Given the description of an element on the screen output the (x, y) to click on. 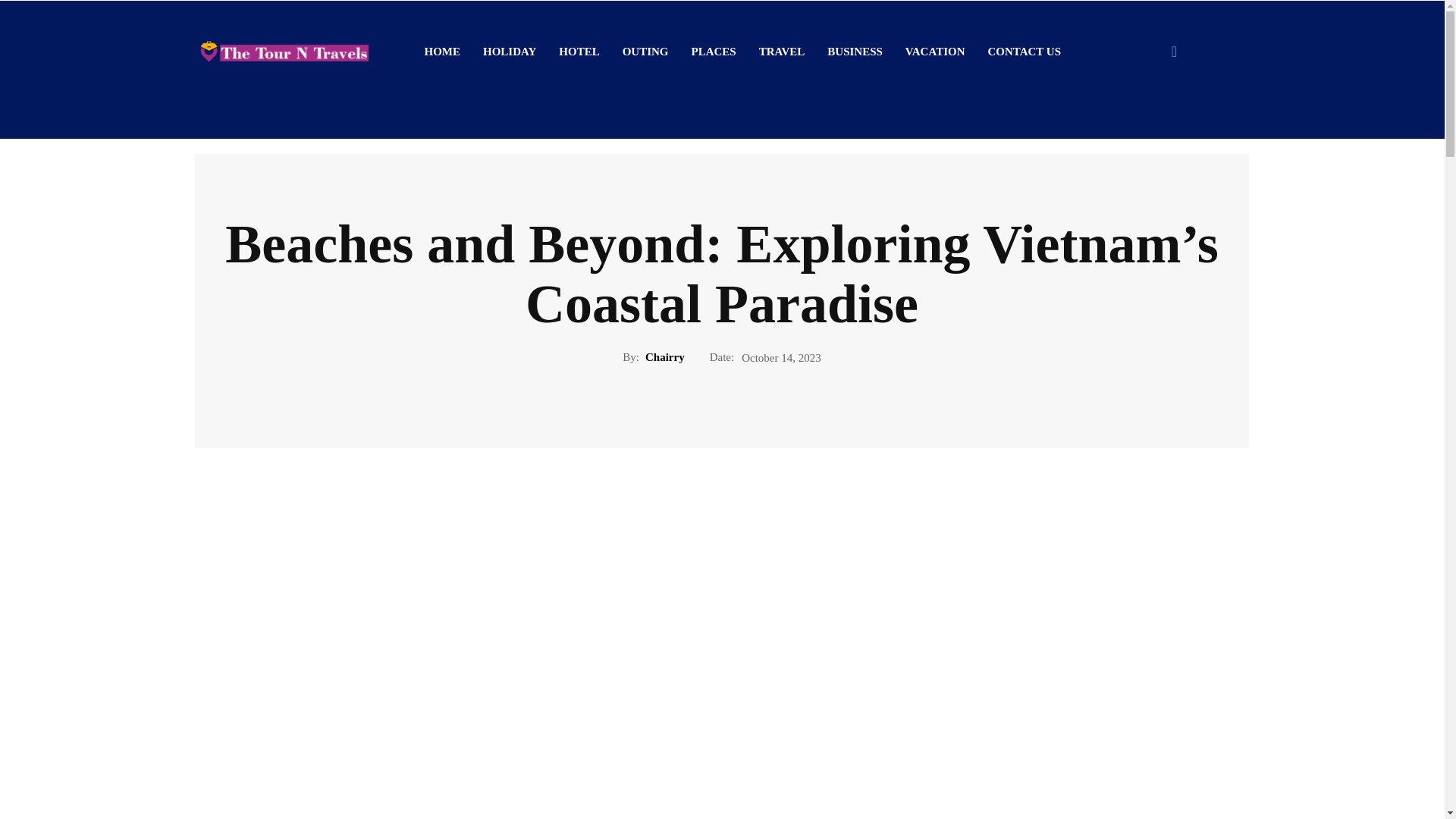
HOME (441, 51)
OUTING (645, 51)
Chairry (664, 356)
PLACES (713, 51)
TRAVEL (782, 51)
BUSINESS (854, 51)
HOLIDAY (509, 51)
VACATION (934, 51)
CONTACT US (1023, 51)
HOTEL (578, 51)
